Given the description of an element on the screen output the (x, y) to click on. 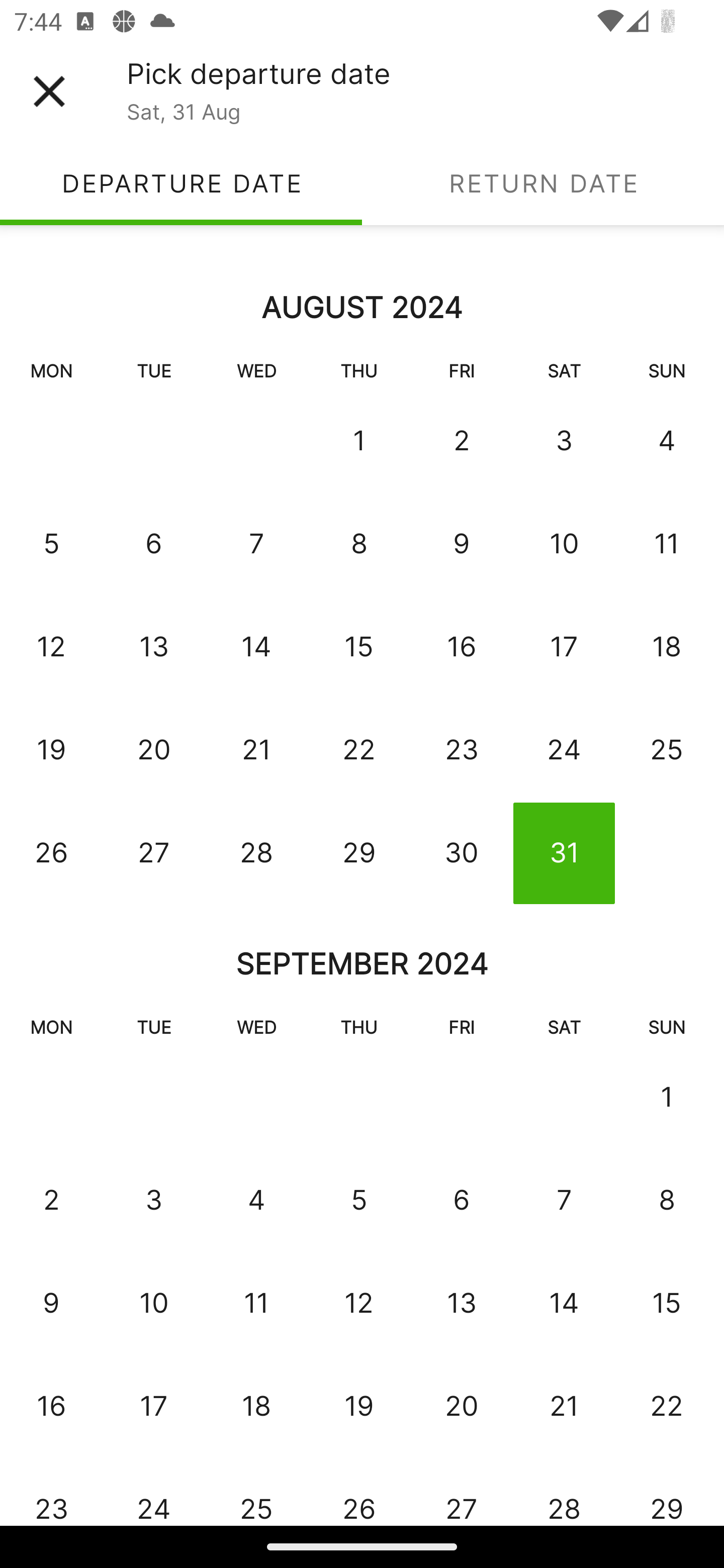
Return Date RETURN DATE (543, 183)
